Given the description of an element on the screen output the (x, y) to click on. 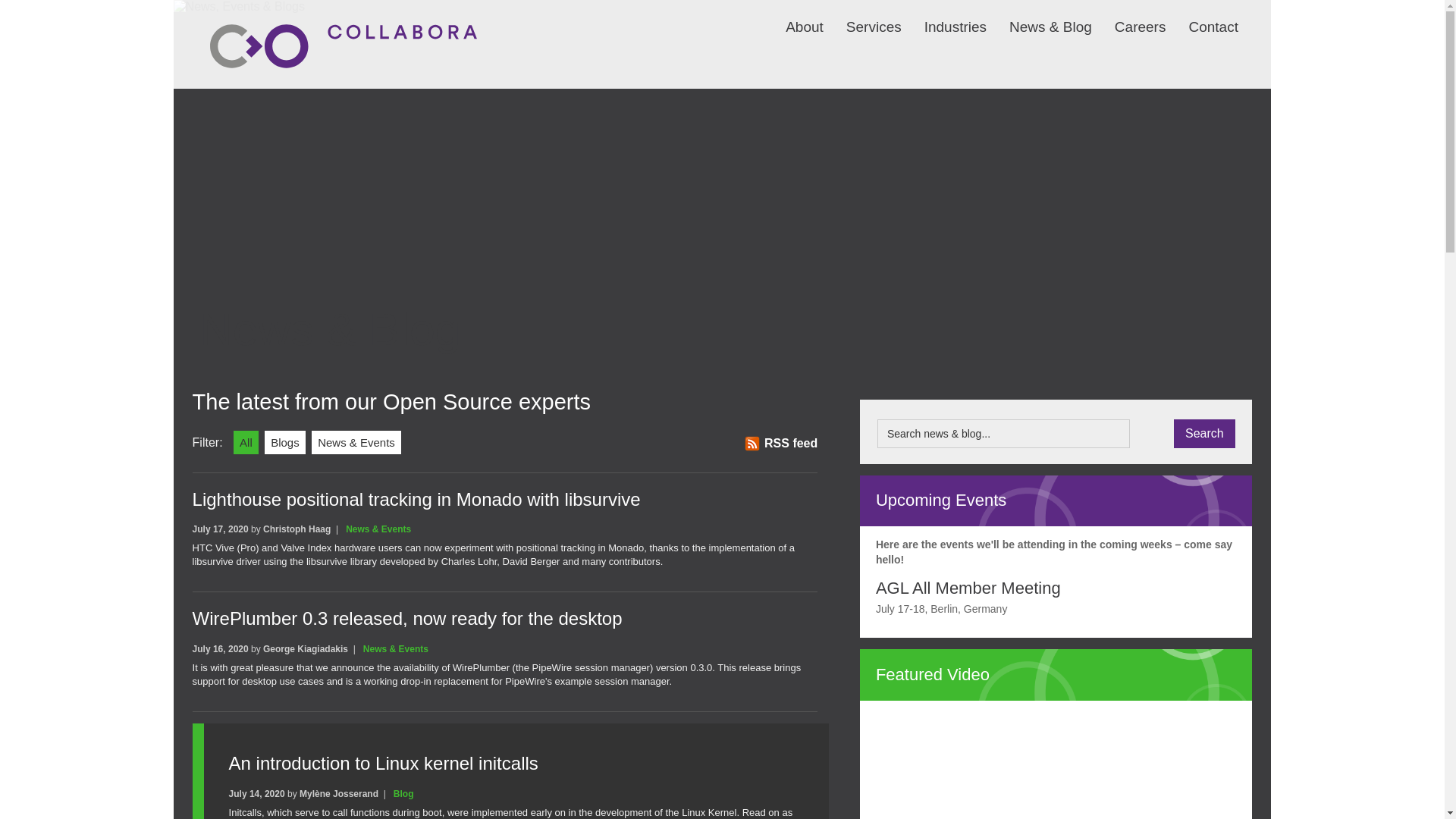
Navigate to the About page (793, 17)
All (245, 442)
Lighthouse positional tracking in Monado with libsurvive (416, 498)
Contact (1201, 17)
Search (1203, 433)
About (793, 17)
Industries (944, 17)
Blogs (284, 442)
Navigate to the Industries page (944, 17)
Services (862, 17)
Navigate to the Services page (862, 17)
RSS feed (780, 442)
Careers (1129, 17)
